Given the description of an element on the screen output the (x, y) to click on. 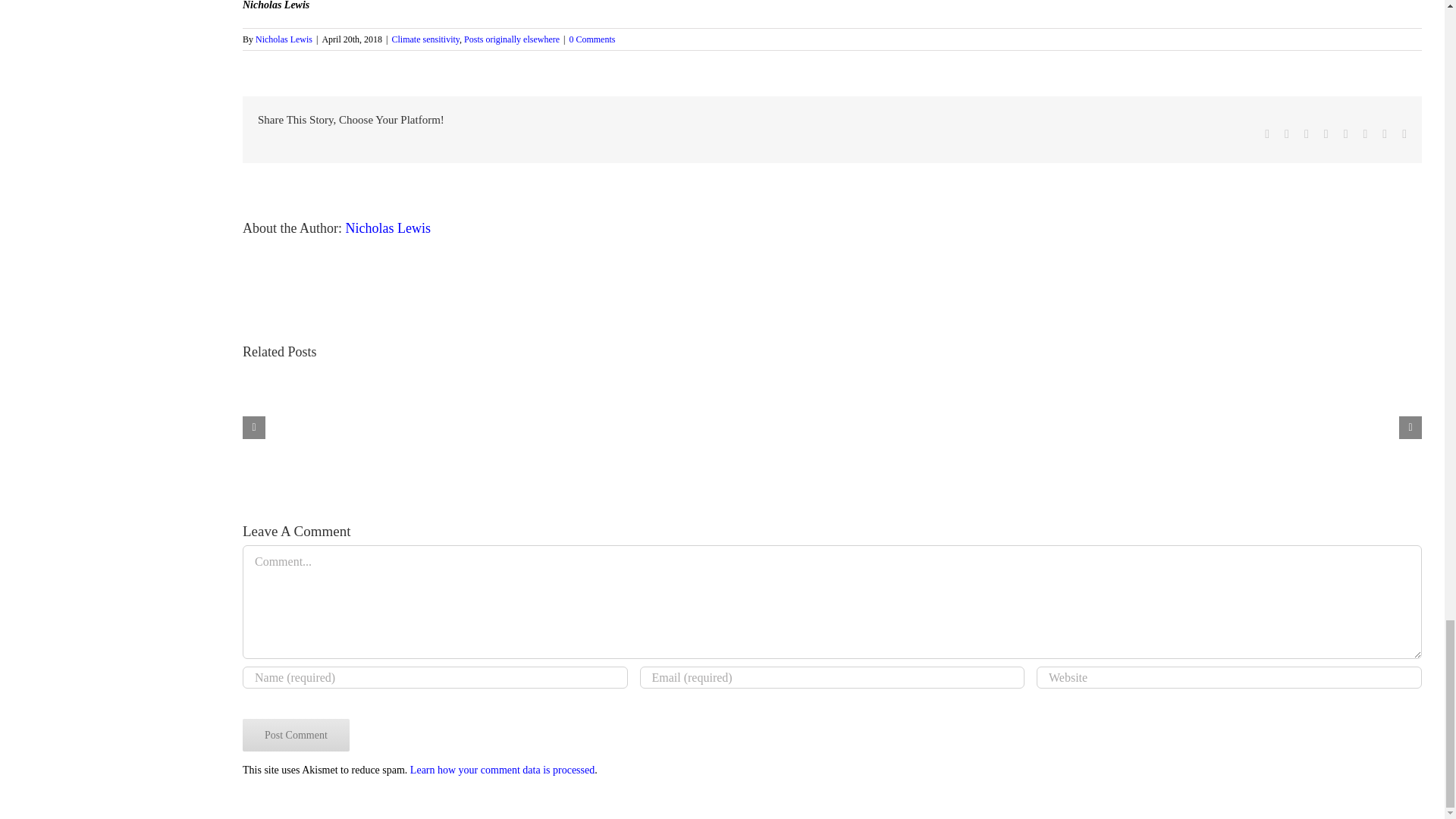
Post Comment (296, 735)
Posts by Nicholas Lewis (284, 39)
0 Comments (591, 39)
Nicholas Lewis (388, 227)
Posts by Nicholas Lewis (388, 227)
Posts originally elsewhere (511, 39)
Climate sensitivity (425, 39)
Nicholas Lewis (284, 39)
